Given the description of an element on the screen output the (x, y) to click on. 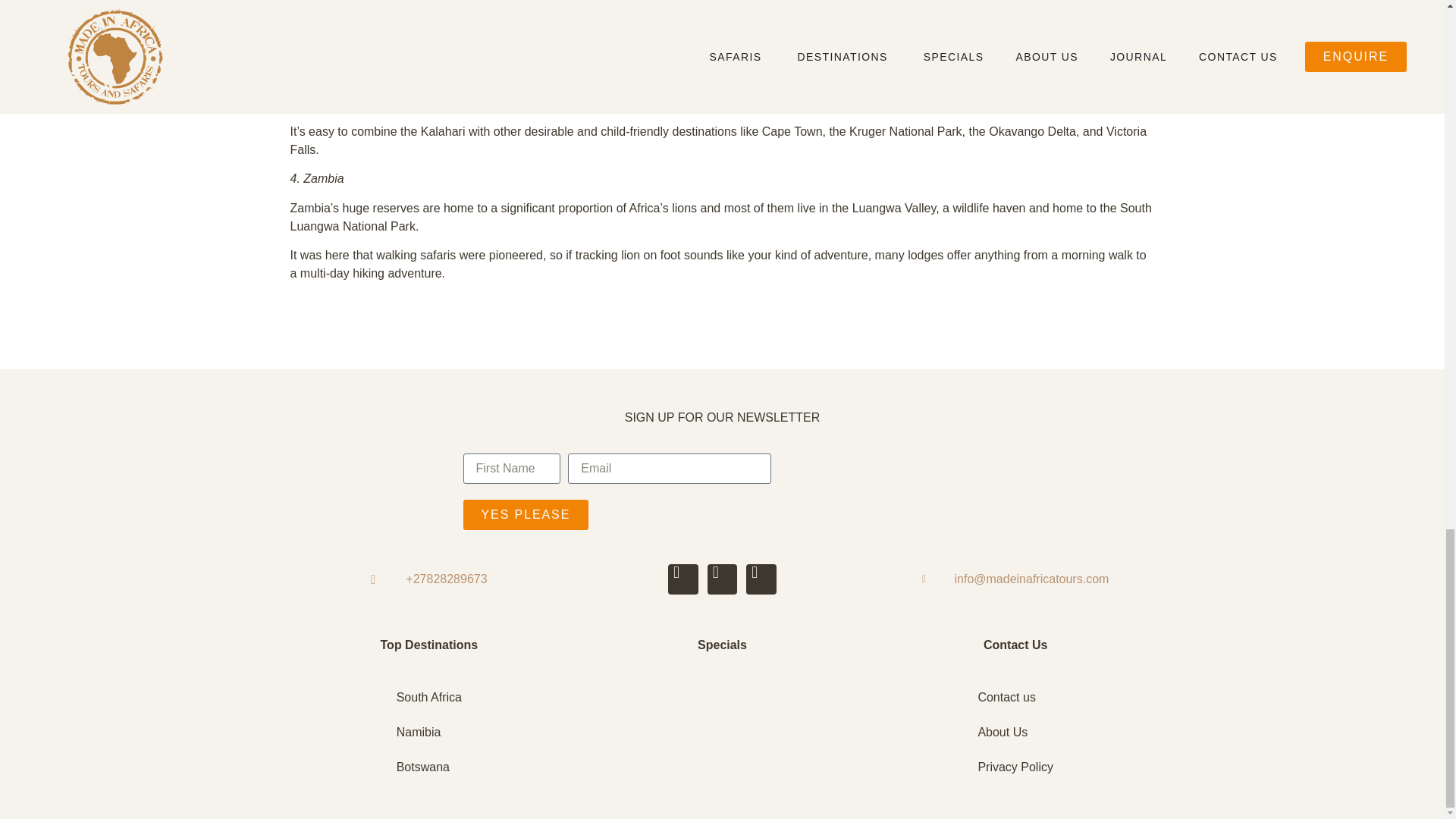
Specials (721, 644)
